Given the description of an element on the screen output the (x, y) to click on. 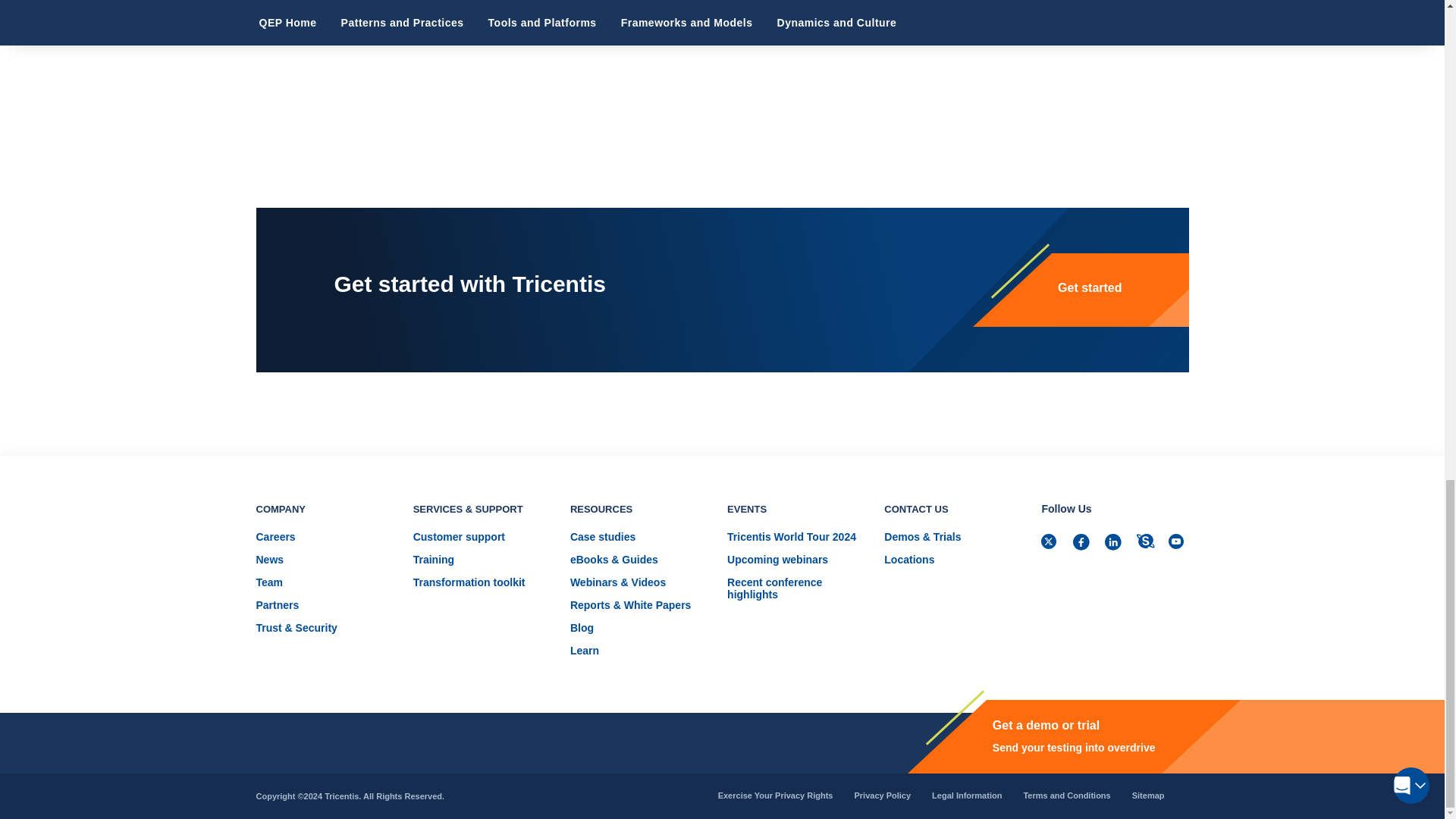
Twitter (1051, 543)
Shiftsync (1146, 543)
Linkedin (1114, 543)
Facebook (1083, 543)
Youtube (1178, 543)
